Given the description of an element on the screen output the (x, y) to click on. 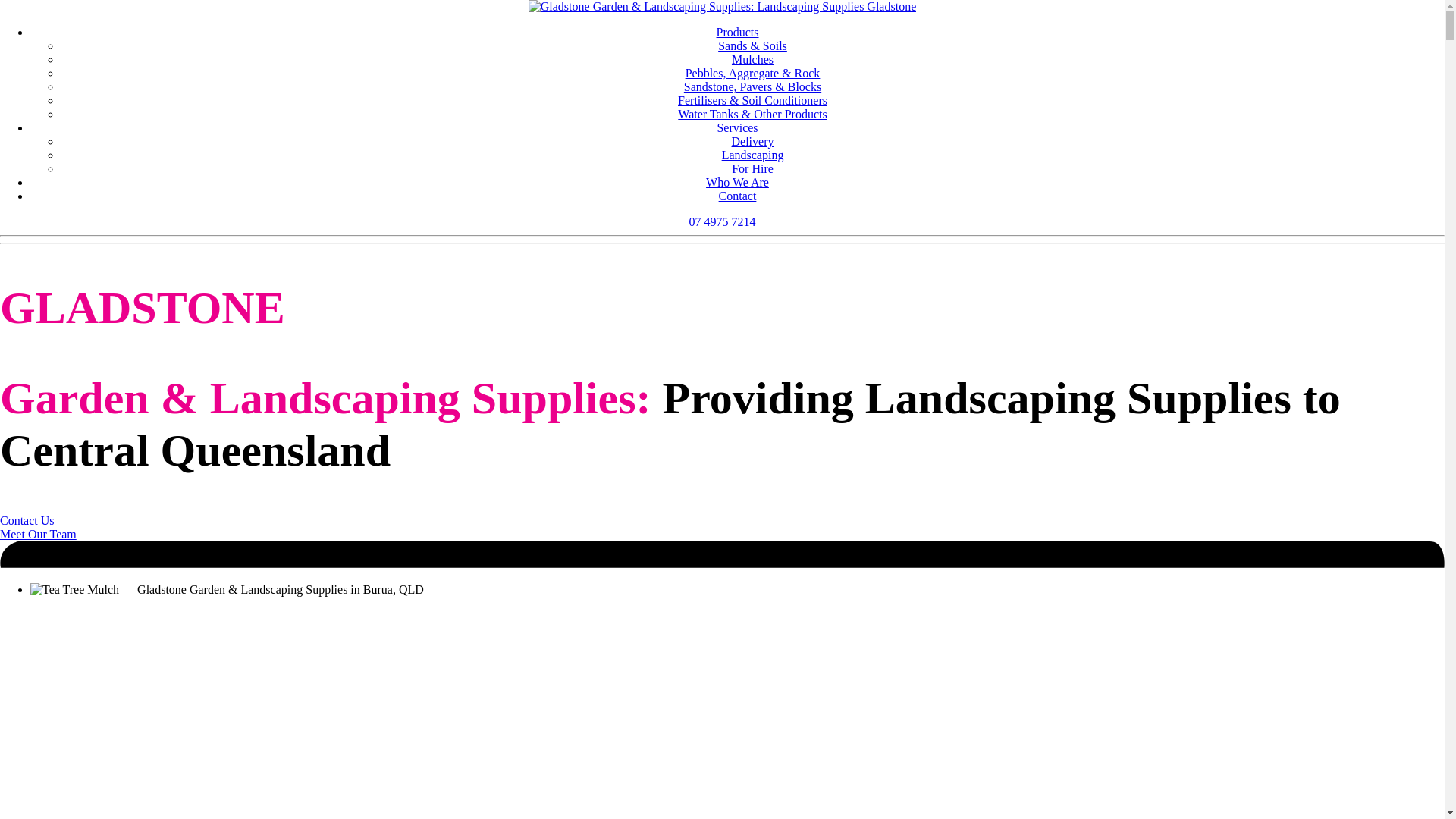
For Hire Element type: text (752, 168)
Contact Us Element type: text (27, 520)
Products Element type: text (736, 31)
Meet Our Team Element type: text (38, 533)
Sands & Soils Element type: text (752, 45)
Water Tanks & Other Products Element type: text (751, 113)
Landscaping Element type: text (752, 154)
Sandstone, Pavers & Blocks Element type: text (752, 86)
Mulches Element type: text (752, 59)
Pebbles, Aggregate & Rock Element type: text (752, 72)
Delivery Element type: text (752, 140)
Who We Are Element type: text (737, 181)
Contact Element type: text (737, 195)
Fertilisers & Soil Conditioners Element type: text (752, 100)
Services Element type: text (736, 127)
07 4975 7214 Element type: text (721, 221)
